Given the description of an element on the screen output the (x, y) to click on. 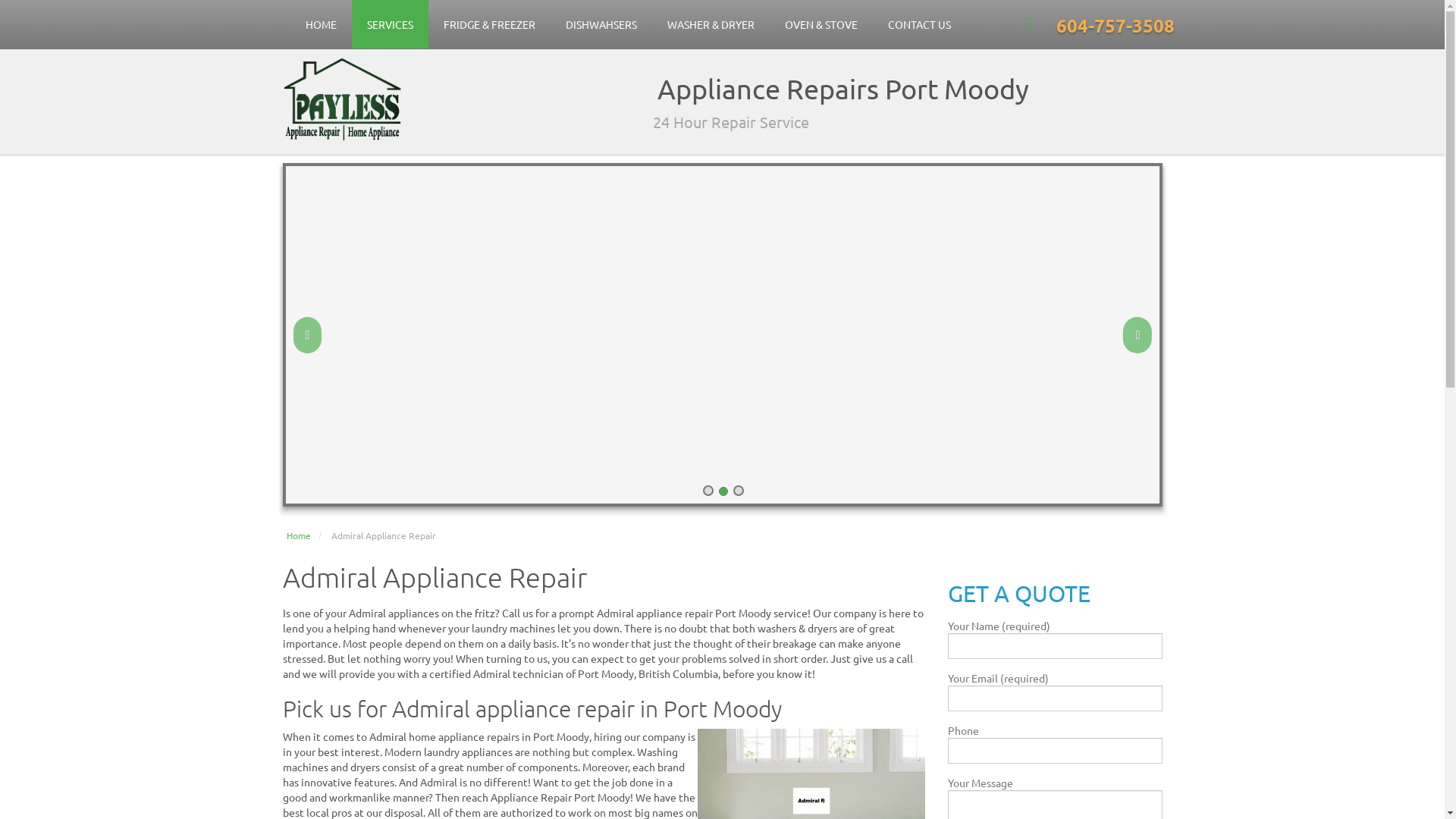
CONTACT US Element type: text (918, 23)
SERVICES Element type: text (389, 24)
Home Element type: text (298, 535)
OVEN & STOVE Element type: text (820, 23)
FRIDGE & FREEZER Element type: text (488, 23)
DISHWAHSERS Element type: text (601, 23)
HOME Element type: text (320, 23)
604-757-3508 Element type: text (1114, 24)
WASHER & DRYER Element type: text (710, 23)
